Given the description of an element on the screen output the (x, y) to click on. 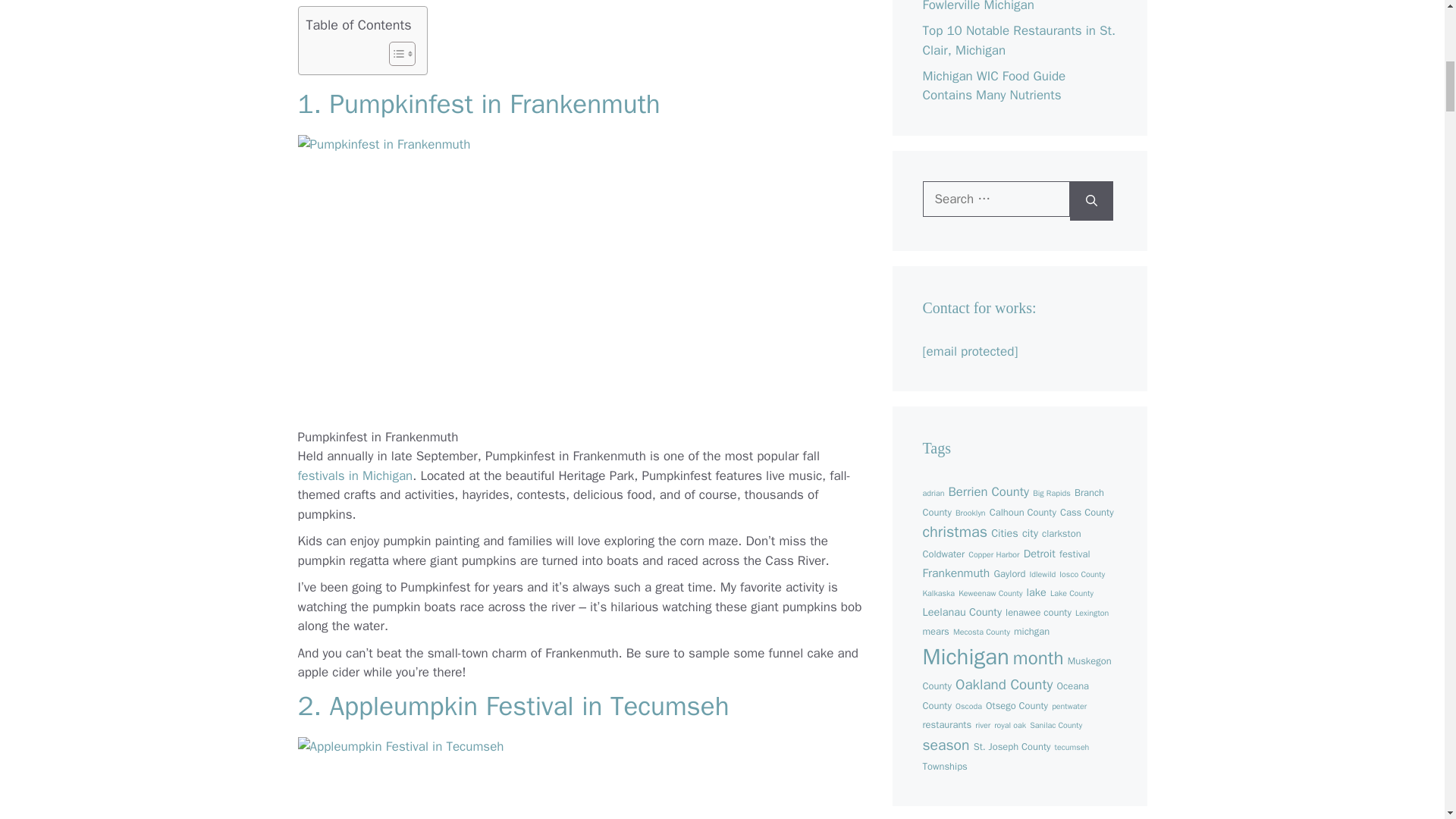
festivals in Michigan (354, 475)
